Given the description of an element on the screen output the (x, y) to click on. 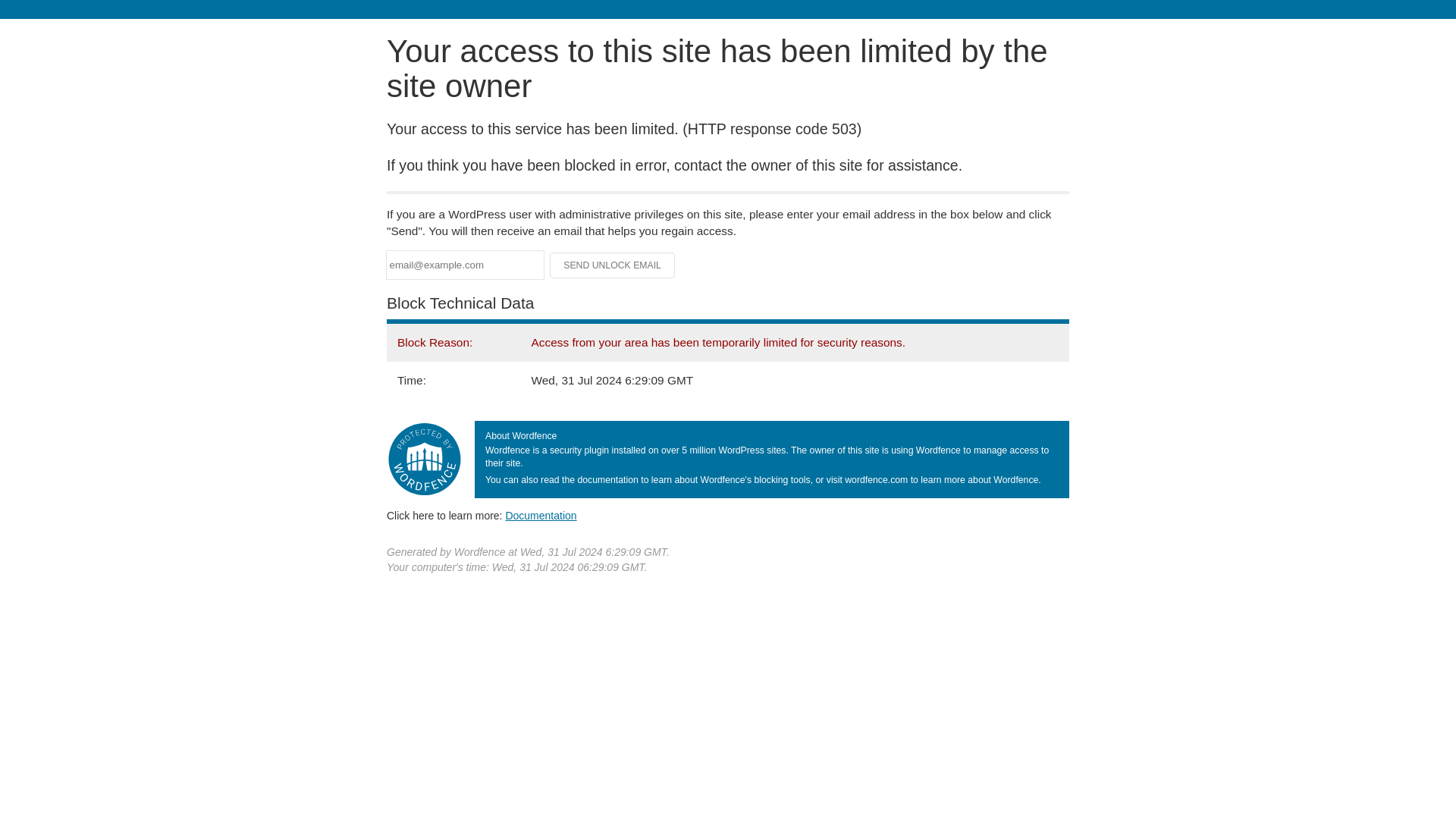
Documentation (540, 515)
Send Unlock Email (612, 265)
Send Unlock Email (612, 265)
